Given the description of an element on the screen output the (x, y) to click on. 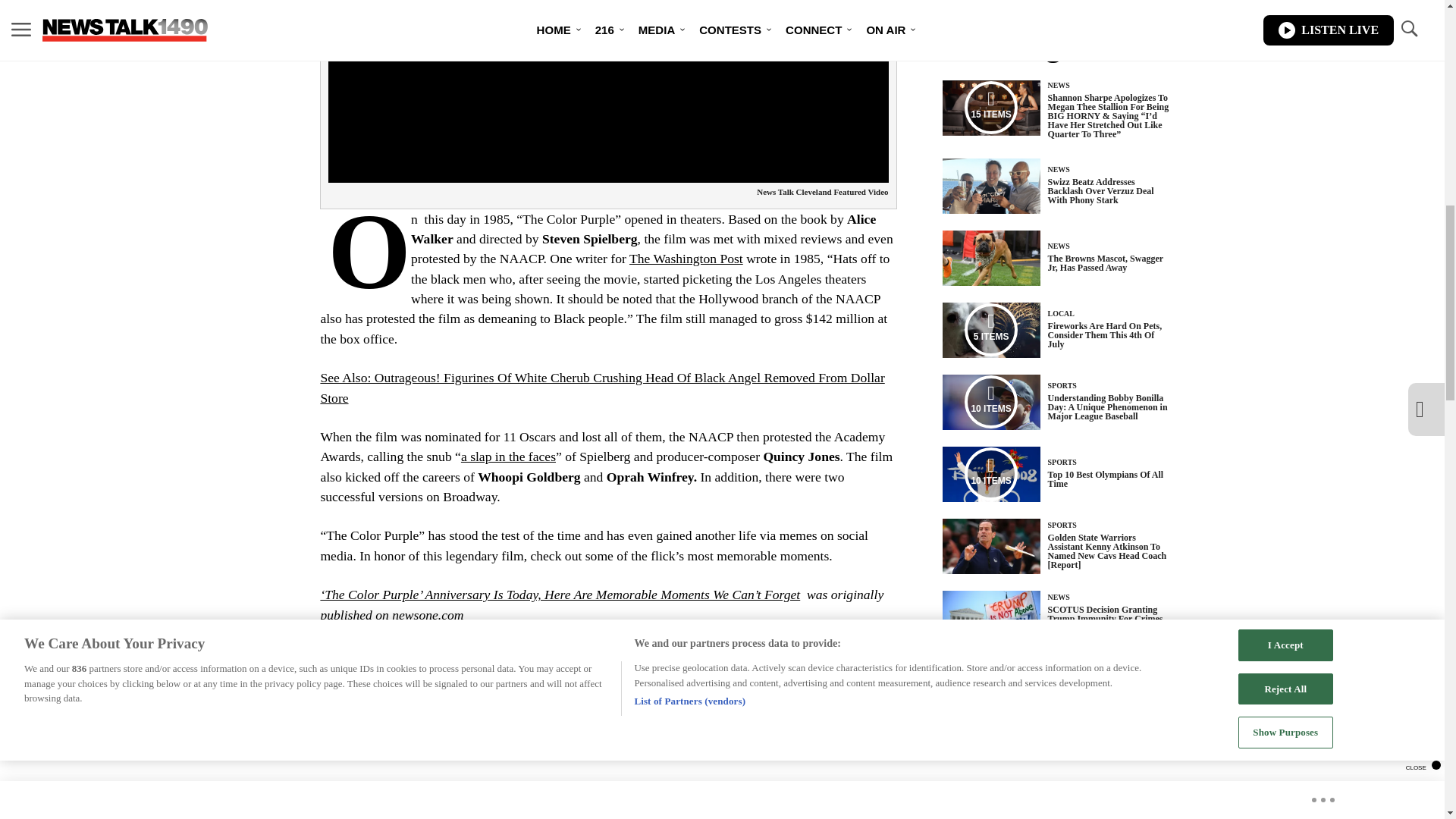
a slap in the faces (508, 456)
newsone.com (427, 614)
Media Playlist (990, 401)
The Washington Post (685, 258)
15 ITEMS (991, 107)
Media Playlist (990, 329)
Media Playlist (990, 473)
NEWS (1059, 85)
Media Playlist (990, 107)
